Given the description of an element on the screen output the (x, y) to click on. 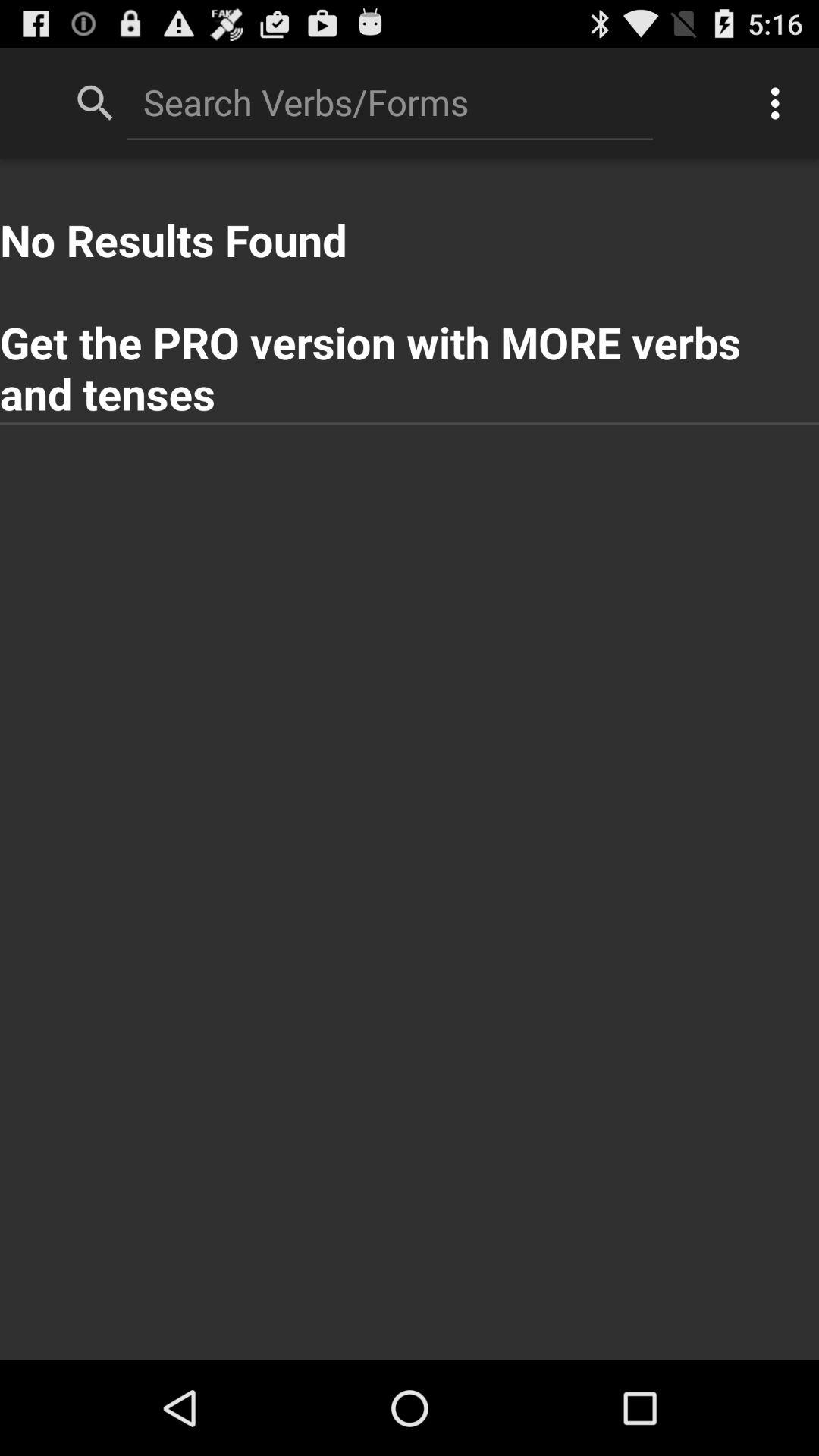
click the app above the no results found item (389, 102)
